Given the description of an element on the screen output the (x, y) to click on. 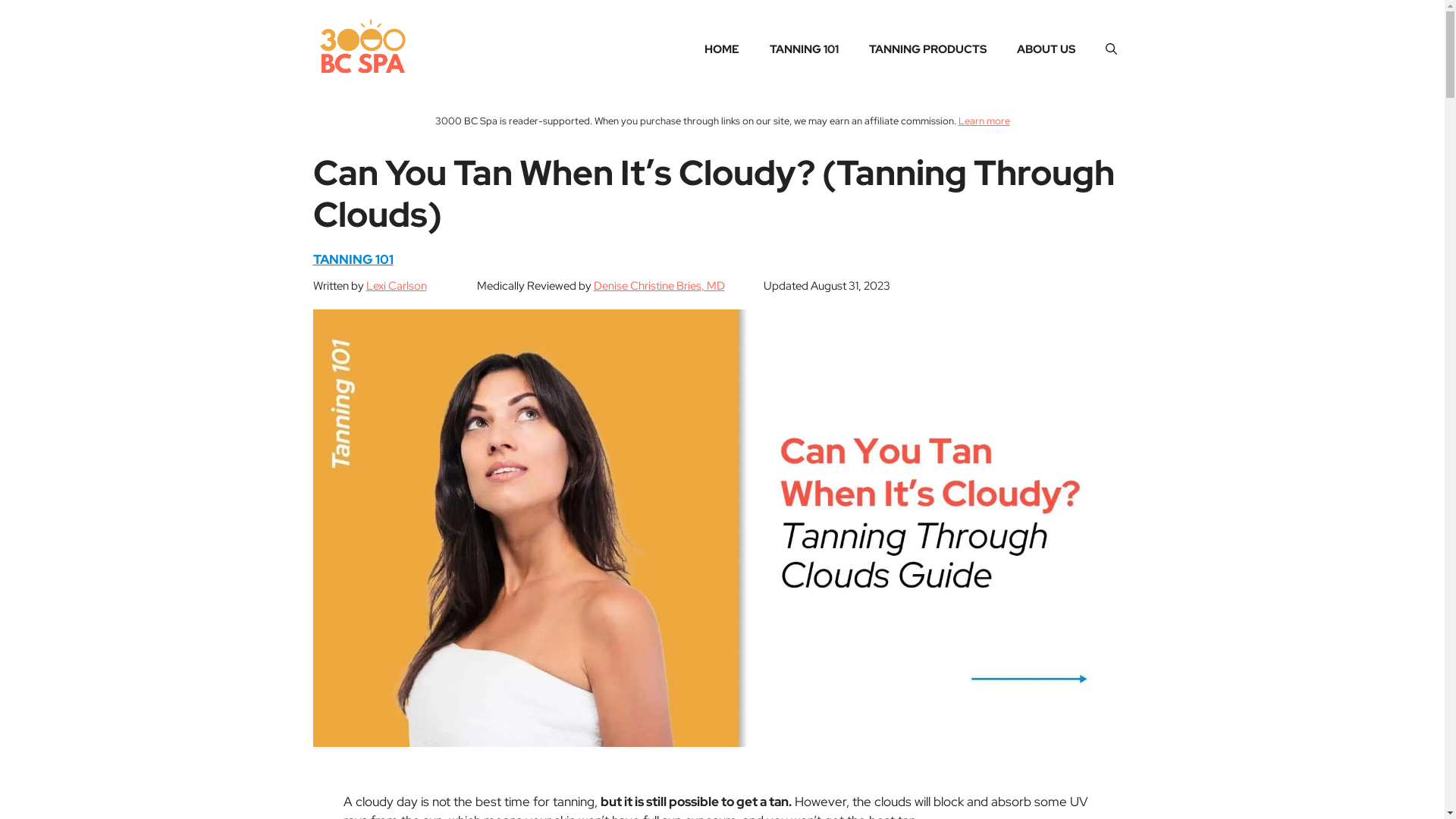
HOME Element type: text (720, 49)
Lexi Carlson Element type: text (395, 285)
Learn more Element type: text (984, 120)
TANNING 101 Element type: text (803, 49)
ABOUT US Element type: text (1045, 49)
TANNING 101 Element type: text (352, 259)
TANNING PRODUCTS Element type: text (927, 49)
Denise Christine Bries, MD Element type: text (658, 285)
